Given the description of an element on the screen output the (x, y) to click on. 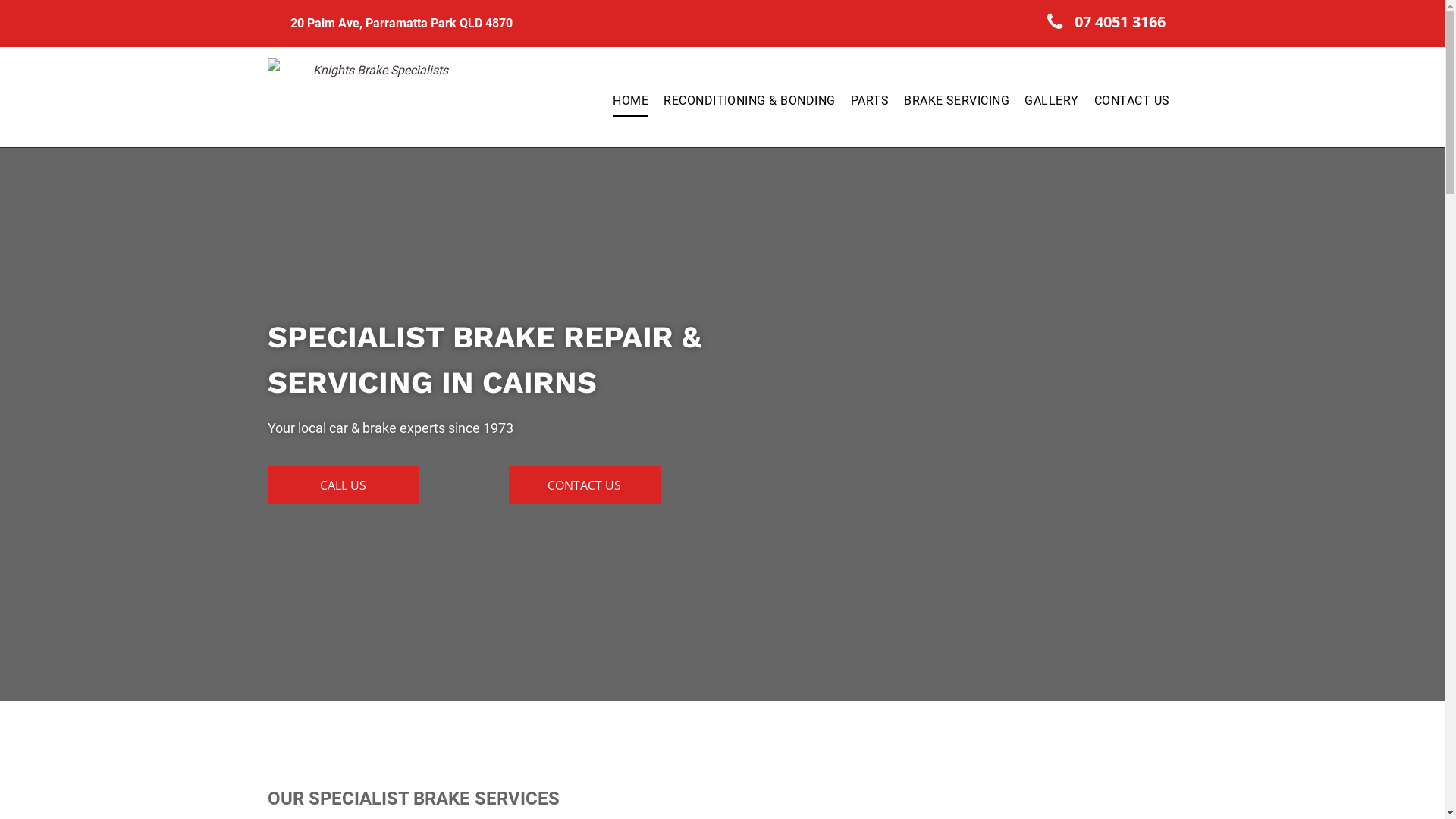
BRAKE SERVICING Element type: text (956, 100)
Knights Brake Specialists Element type: hover (373, 96)
HOME Element type: text (630, 100)
07 4051 3166 Element type: text (1106, 21)
RECONDITIONING & BONDING Element type: text (749, 100)
GALLERY Element type: text (1050, 100)
20 Palm Ave, Parramatta Park QLD 4870 Element type: text (400, 22)
CALL US Element type: text (342, 485)
CONTACT US Element type: text (583, 485)
CONTACT US Element type: text (1131, 100)
PARTS Element type: text (869, 100)
